Given the description of an element on the screen output the (x, y) to click on. 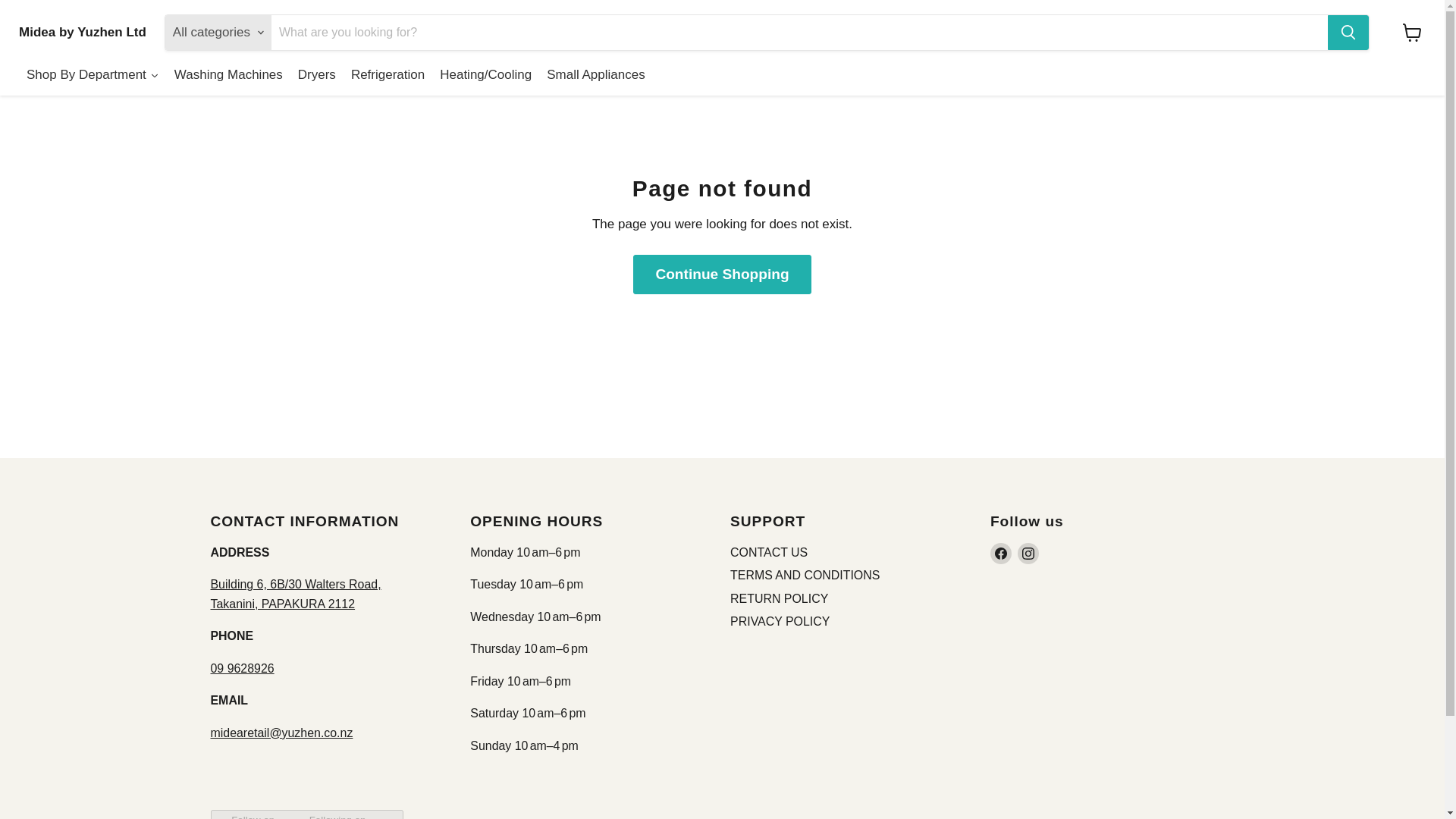
Dryers (316, 76)
Facebook (1000, 553)
Washing Machines (228, 76)
Small Appliances (595, 76)
Shop By Department (92, 76)
Shop By Department (92, 76)
Instagram (1028, 553)
Refrigeration (387, 76)
Dryers (316, 76)
Midea by Yuzhen Ltd (82, 32)
